Given the description of an element on the screen output the (x, y) to click on. 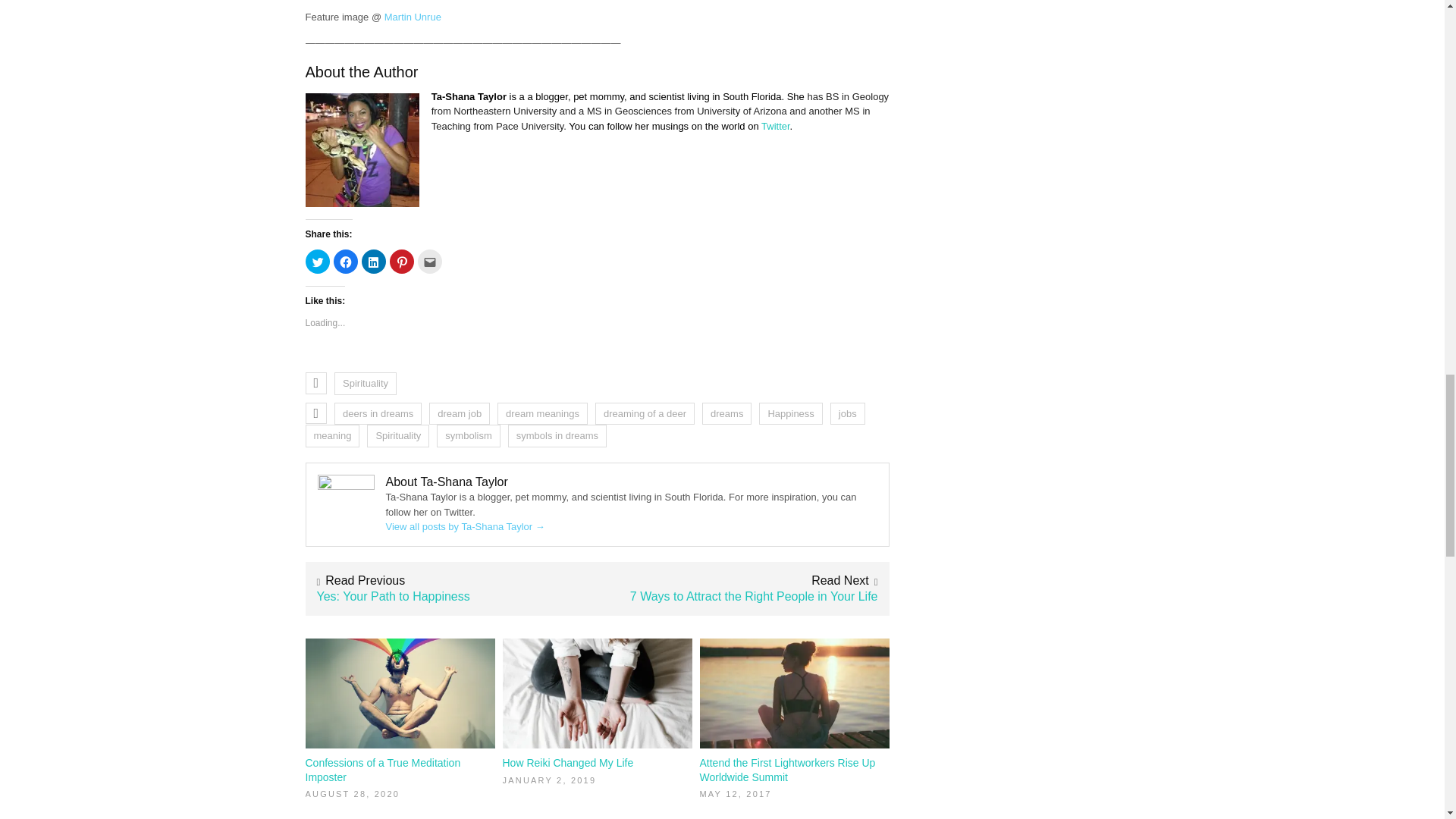
Click to share on Facebook (345, 261)
dreams (726, 413)
dream job (459, 413)
Happiness (790, 413)
Click to email this to a friend (428, 261)
Martin Unrue (412, 16)
dream meanings (542, 413)
Click to share on Twitter (316, 261)
Spirituality (397, 436)
jobs (846, 413)
